Given the description of an element on the screen output the (x, y) to click on. 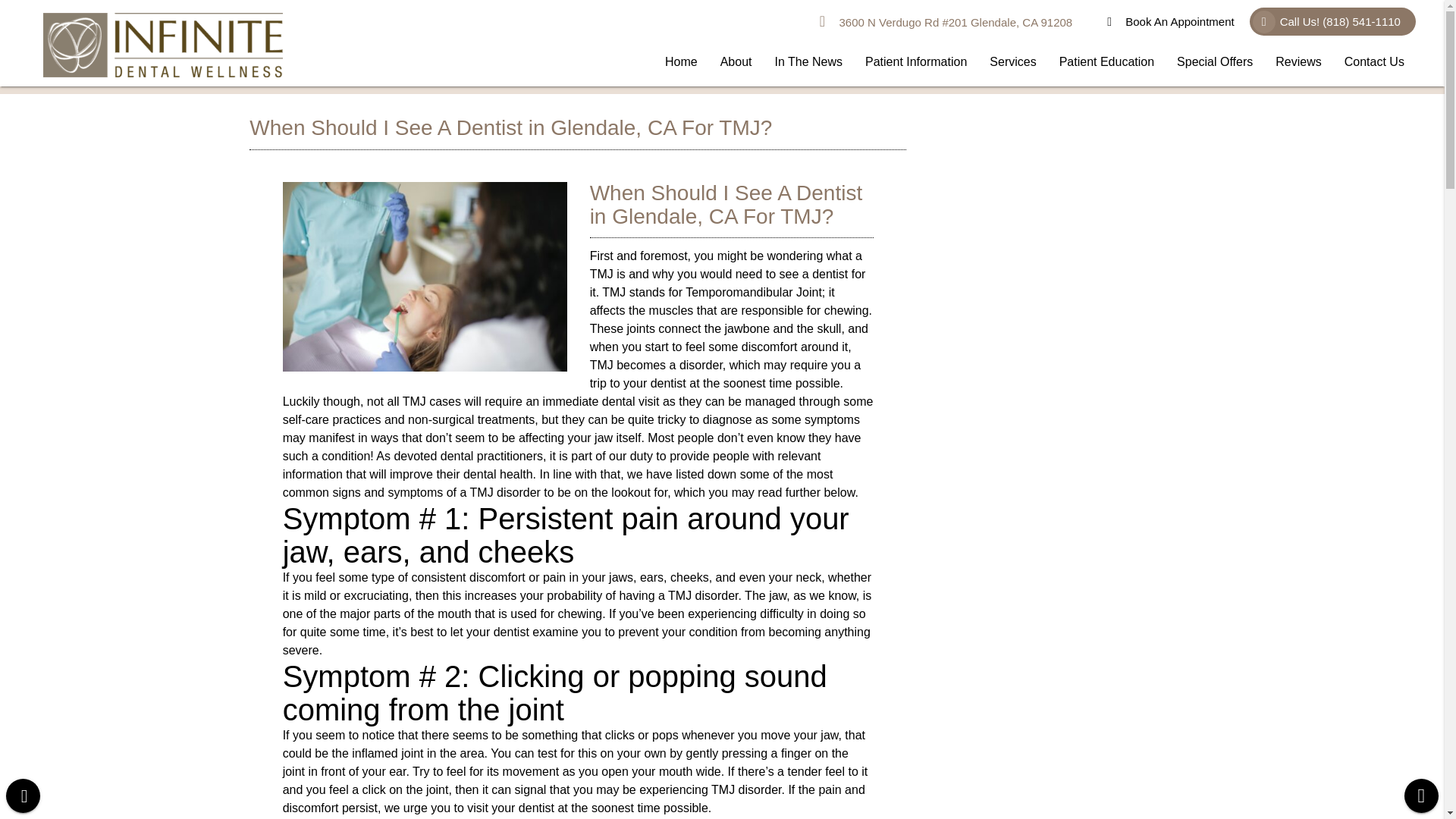
In The News (807, 61)
About (735, 61)
Visit our Home page (681, 61)
Visit our Patient Information page (915, 61)
Infinite Dental Wellness (1171, 21)
Home (681, 61)
Patient Education (1107, 61)
Visit our About Our Practice page (735, 61)
Patient Information (915, 61)
Services Navigation (1012, 61)
Directions to Infinite Dental Wellness (946, 22)
Book An Appointment (1171, 21)
Services (1012, 61)
